Given the description of an element on the screen output the (x, y) to click on. 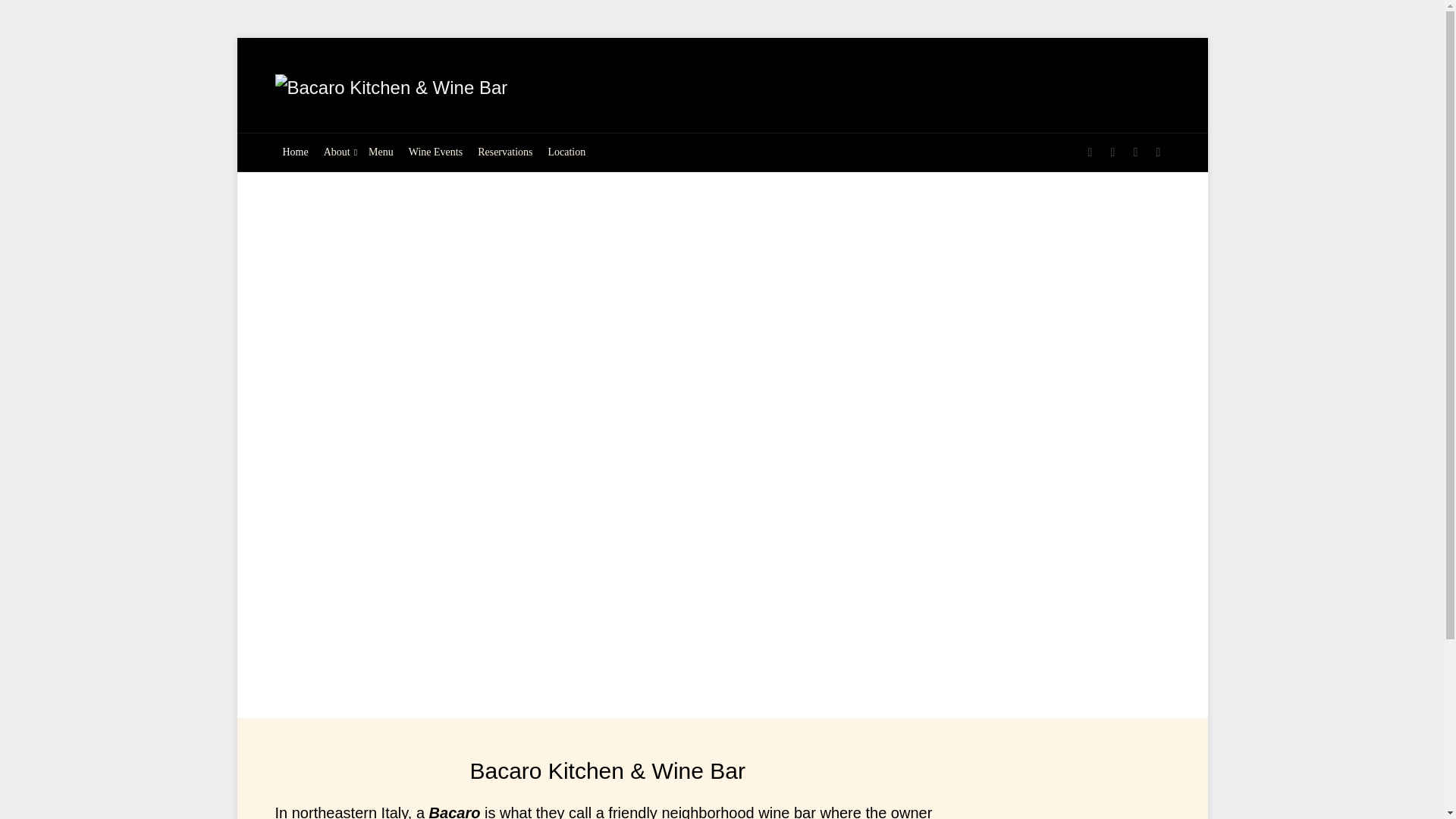
Connect on Facebook (1135, 151)
Home (295, 152)
Location (566, 152)
Wine Events (435, 152)
About (338, 152)
Menu (381, 152)
Connect on Instagram (1158, 151)
Connect on Twitter (1112, 151)
Reservations (505, 152)
RSS Feed (1089, 151)
